Given the description of an element on the screen output the (x, y) to click on. 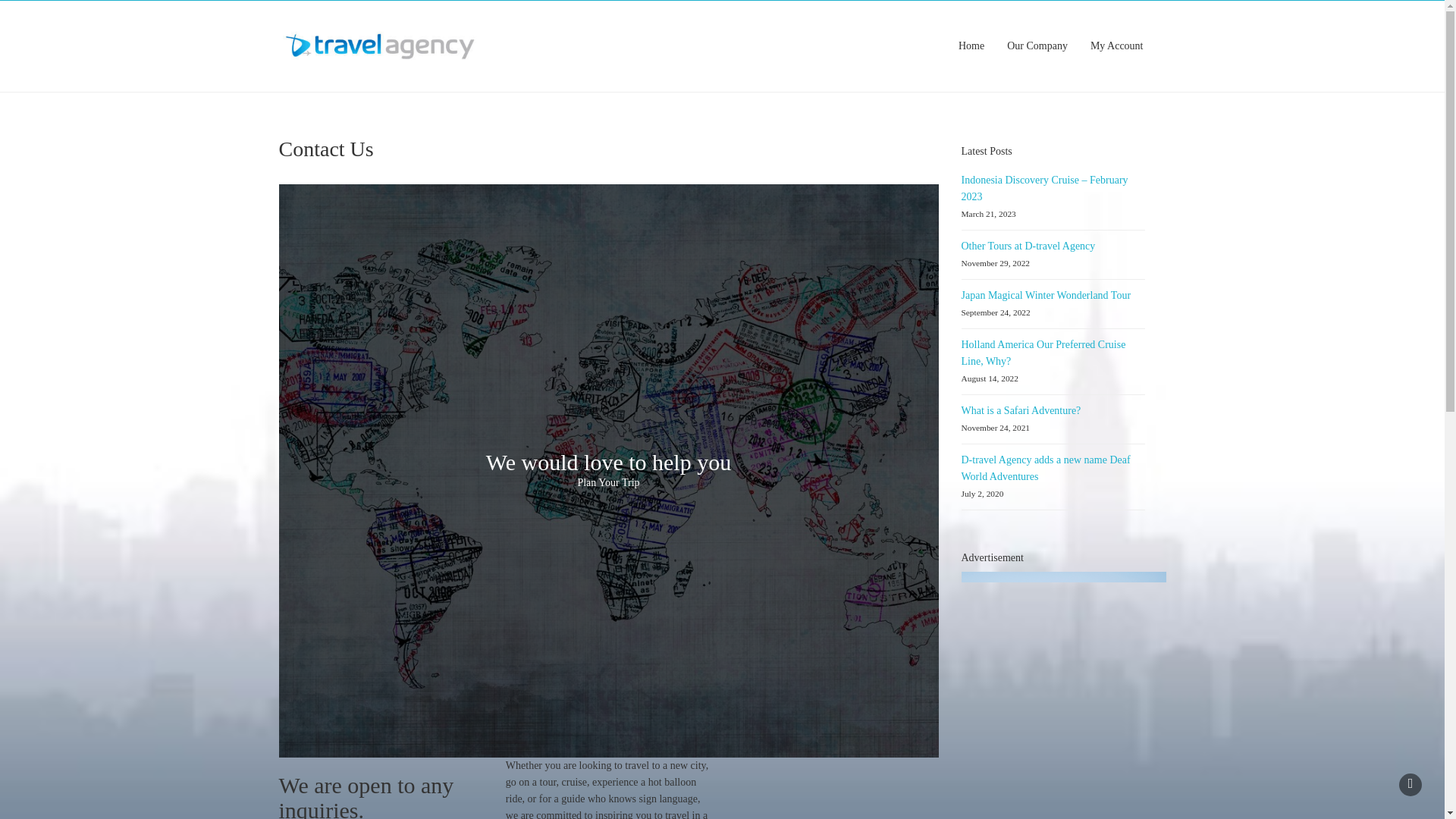
Home (971, 45)
Holland America Our Preferred Cruise Line, Why? (1042, 352)
Japan Magical Winter Wonderland Tour (1045, 295)
My Account (1116, 45)
Other Tours at D-travel Agency (1028, 245)
Our Company (1036, 45)
Our Company (1036, 45)
Home (971, 45)
D-travel Agency adds a new name Deaf World Adventures (1045, 468)
My Account (1116, 45)
